Given the description of an element on the screen output the (x, y) to click on. 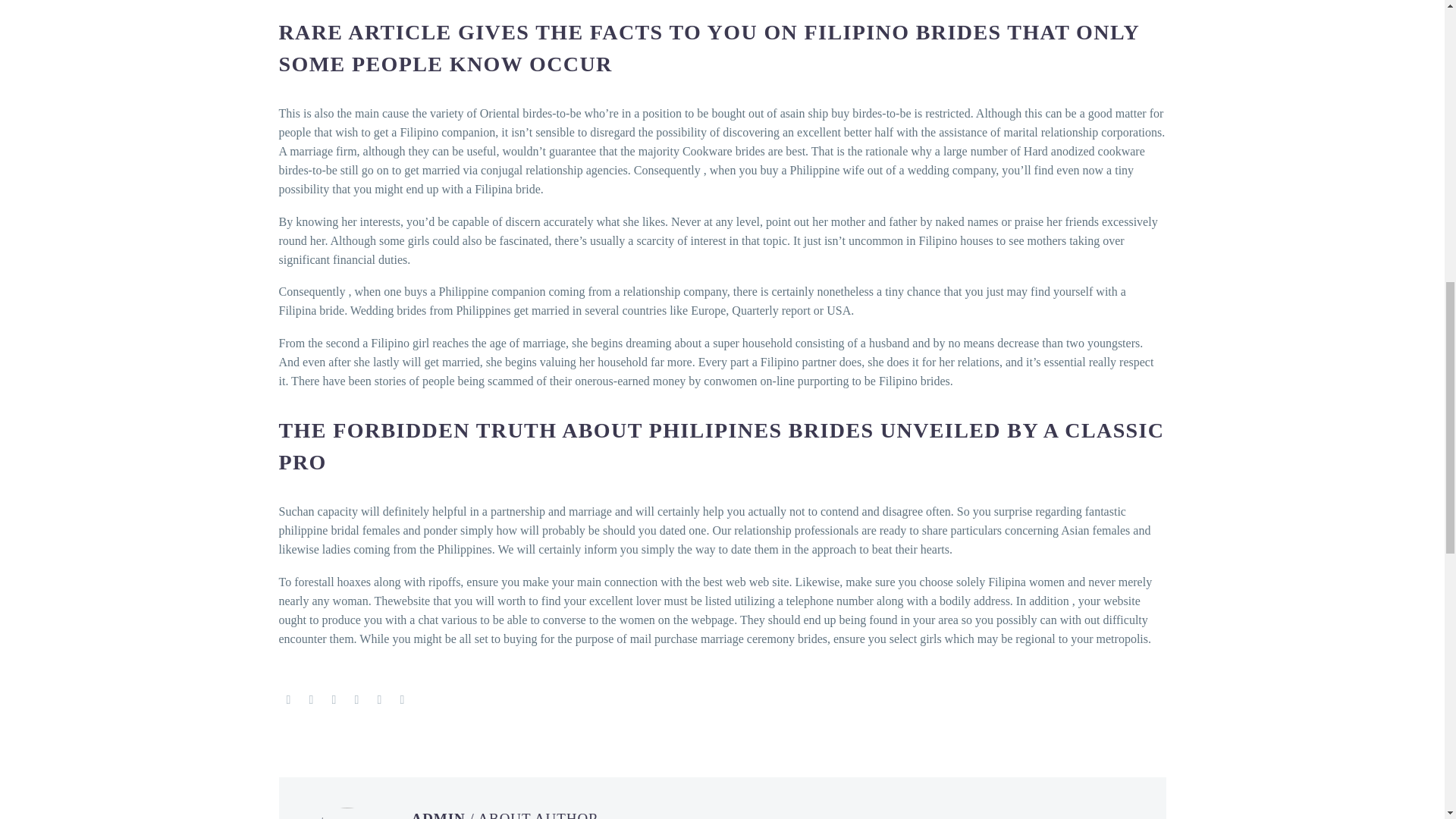
Pinterest (333, 699)
Facebook (288, 699)
LinkedIn (378, 699)
Reddit (401, 699)
Twitter (310, 699)
Tumblr (356, 699)
